Given the description of an element on the screen output the (x, y) to click on. 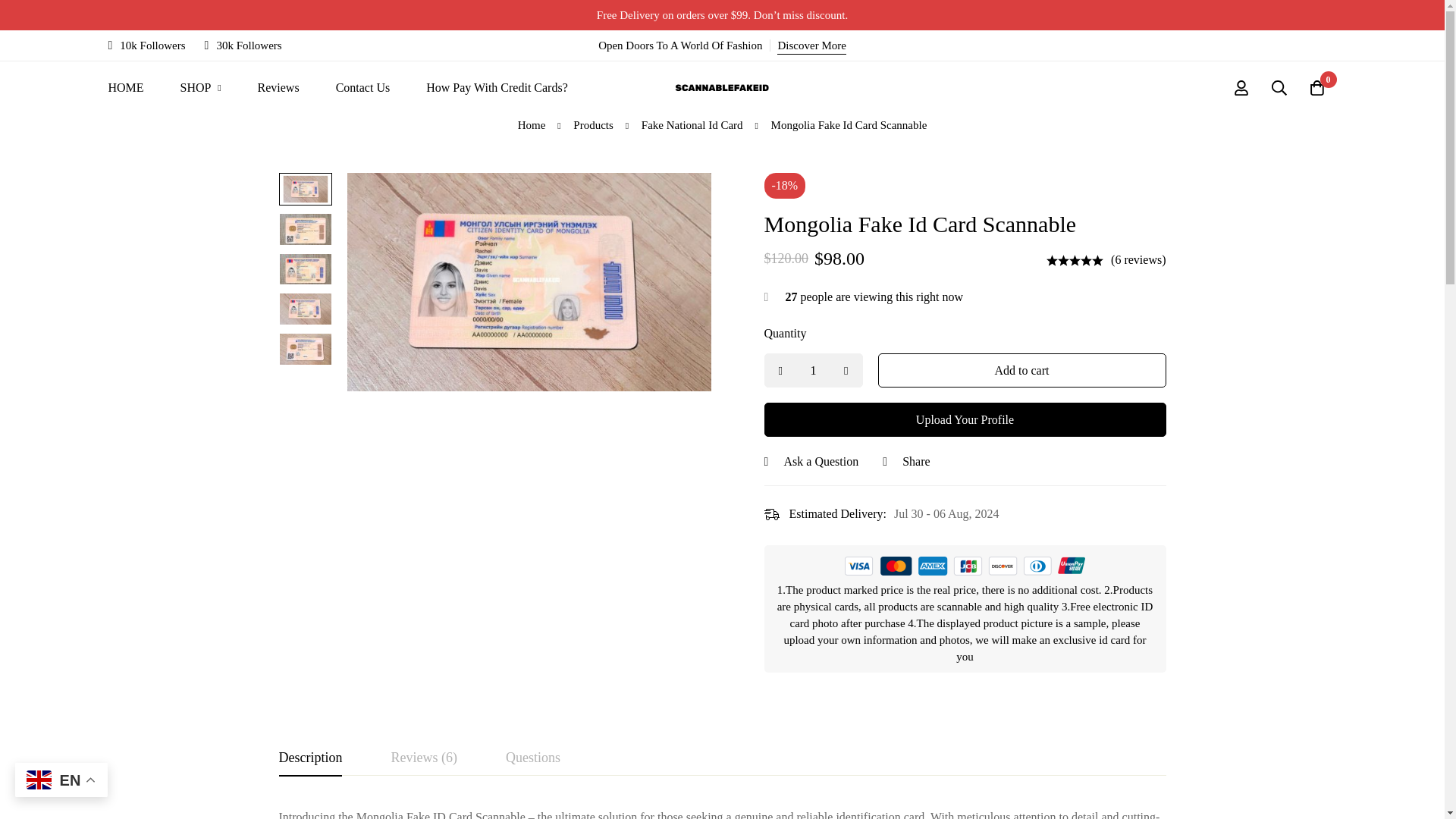
Upload Your Profile (965, 419)
Products (592, 125)
Reviews (278, 87)
0 (1317, 87)
Ask a Question (811, 461)
Add to cart (1021, 369)
1 (813, 369)
Home (532, 125)
How Pay With Credit Cards? (497, 87)
Qty (813, 369)
Fake National Id Card (692, 125)
Share (906, 461)
SHOP (200, 87)
HOME (125, 87)
Contact Us (362, 87)
